Given the description of an element on the screen output the (x, y) to click on. 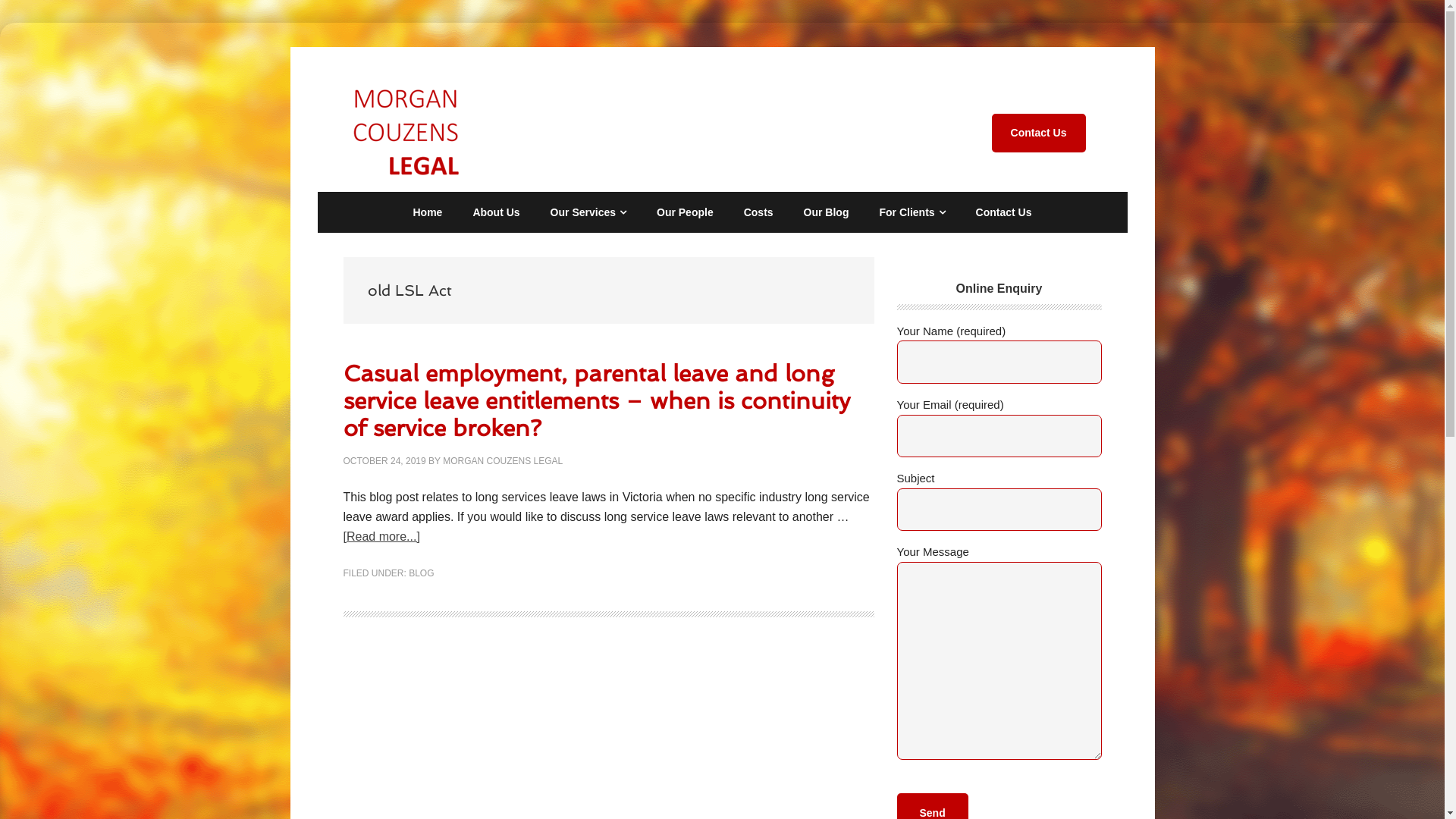
Contact Us Element type: text (1038, 132)
Contact Us Element type: text (1003, 211)
For Clients Element type: text (911, 211)
Costs Element type: text (758, 211)
About Us Element type: text (495, 211)
BLOG Element type: text (420, 572)
Home Element type: text (427, 211)
Morgan Couzens Legal Element type: hover (404, 132)
Our Blog Element type: text (826, 211)
Skip to primary navigation Element type: text (0, 22)
Our People Element type: text (684, 211)
MORGAN COUZENS LEGAL Element type: text (502, 460)
Our Services Element type: text (588, 211)
